Given the description of an element on the screen output the (x, y) to click on. 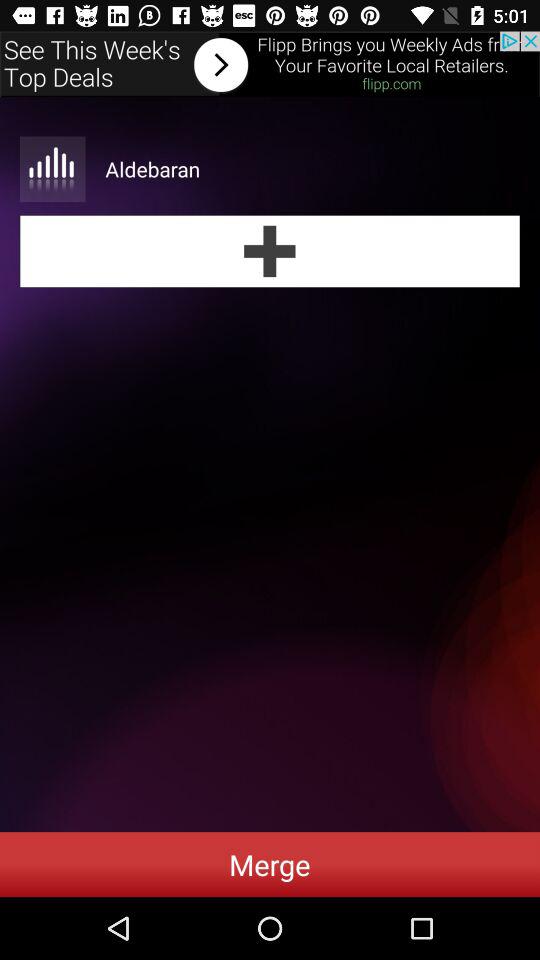
flipp advertisement (270, 64)
